Given the description of an element on the screen output the (x, y) to click on. 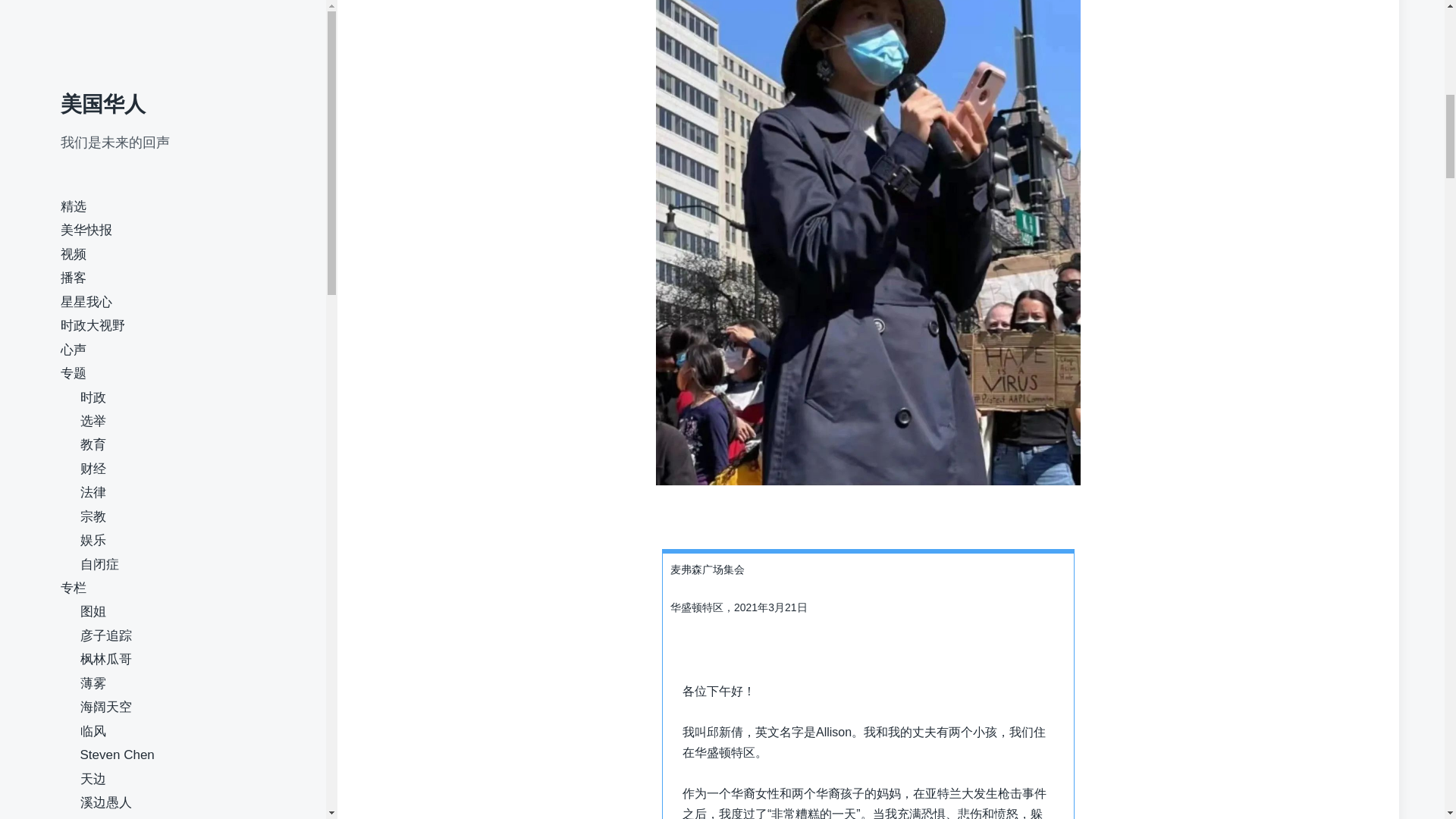
Shop Amazon (117, 236)
Shop Amazon (117, 236)
